Given the description of an element on the screen output the (x, y) to click on. 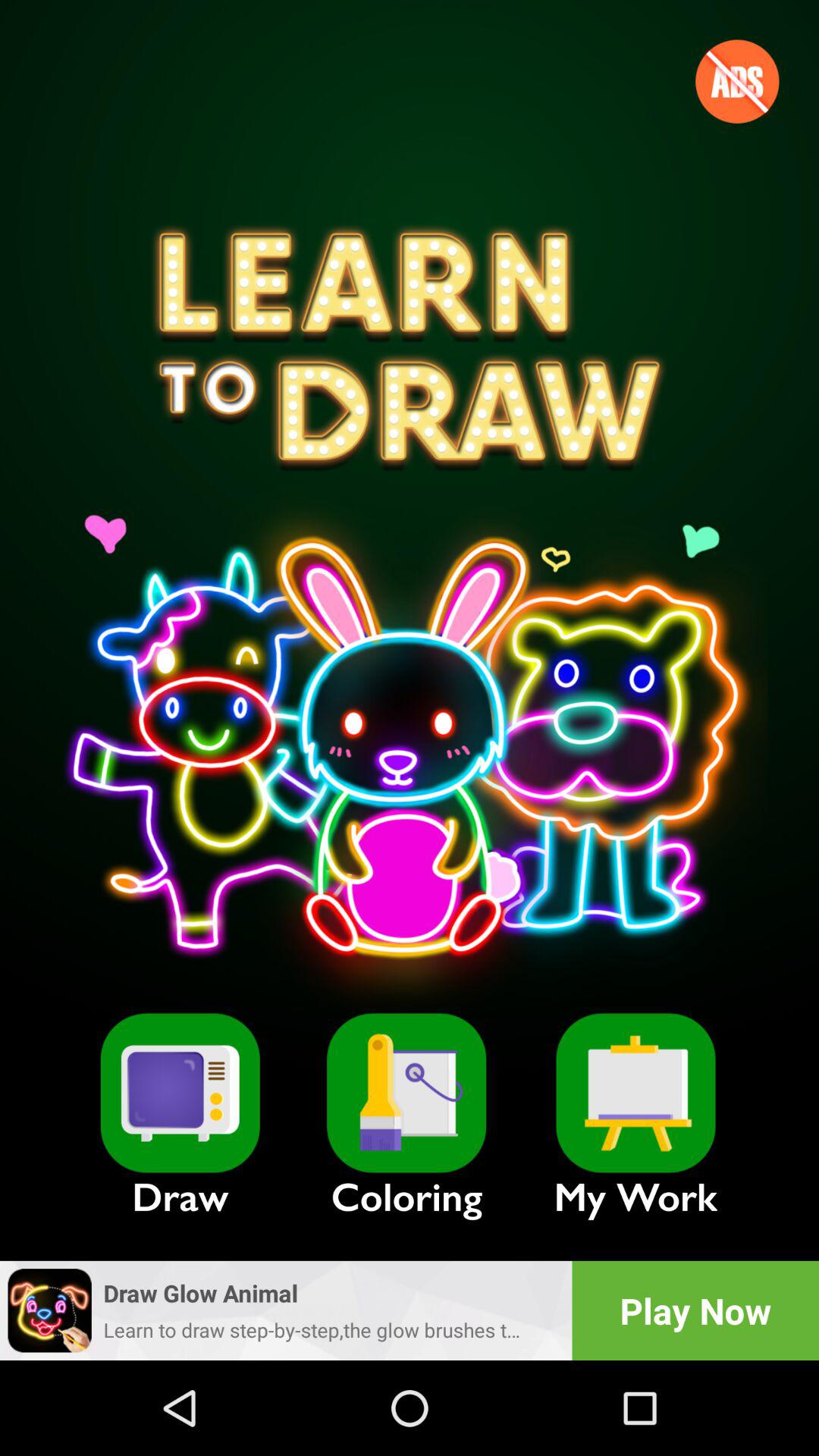
coloring option (406, 1092)
